Given the description of an element on the screen output the (x, y) to click on. 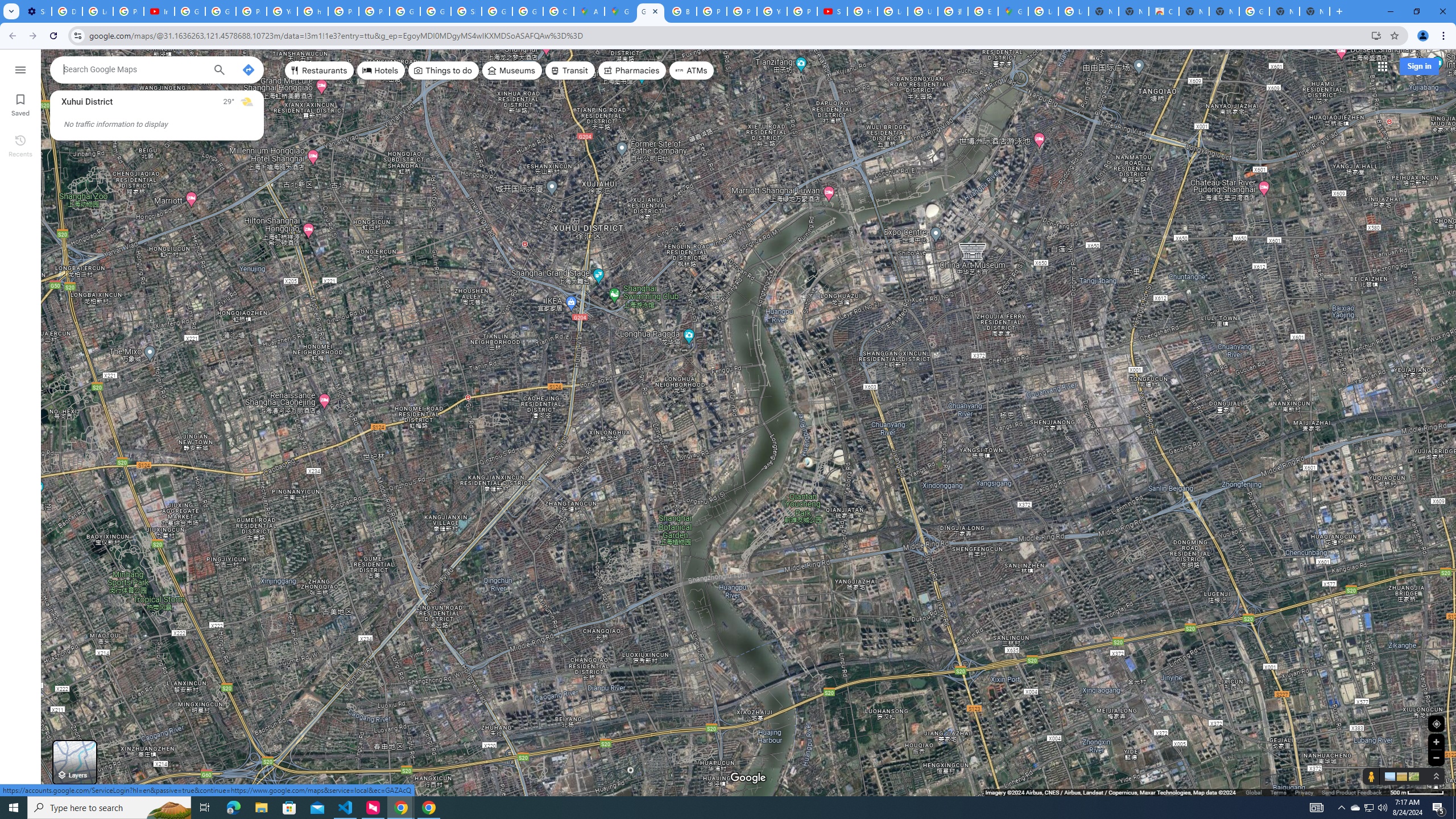
YouTube (771, 11)
Things to do (443, 70)
Museums (511, 70)
New Tab (1314, 11)
Google Images (1254, 11)
Show Street View coverage (1371, 776)
Privacy Help Center - Policies Help (741, 11)
Google Maps (619, 11)
Learn how to find your photos - Google Photos Help (97, 11)
